Given the description of an element on the screen output the (x, y) to click on. 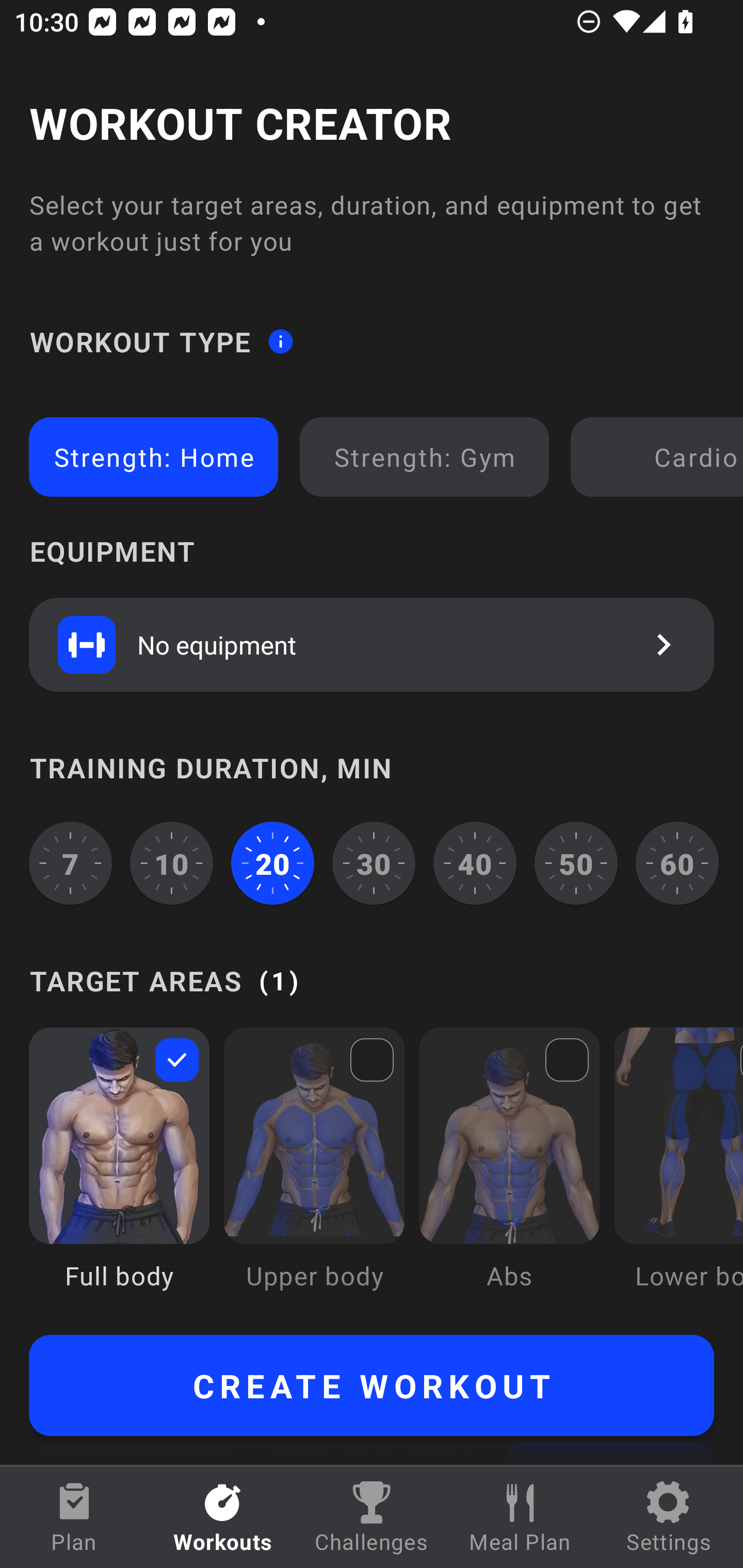
Workout type information button (280, 340)
Strength: Gym (423, 457)
Cardio (660, 457)
No equipment (371, 644)
7 (70, 862)
10 (171, 862)
20 (272, 862)
30 (373, 862)
40 (474, 862)
50 (575, 862)
60 (676, 862)
Upper body (313, 1172)
Abs (509, 1172)
Lower body (678, 1172)
CREATE WORKOUT (371, 1385)
 Plan  (74, 1517)
 Challenges  (371, 1517)
 Meal Plan  (519, 1517)
 Settings  (668, 1517)
